Given the description of an element on the screen output the (x, y) to click on. 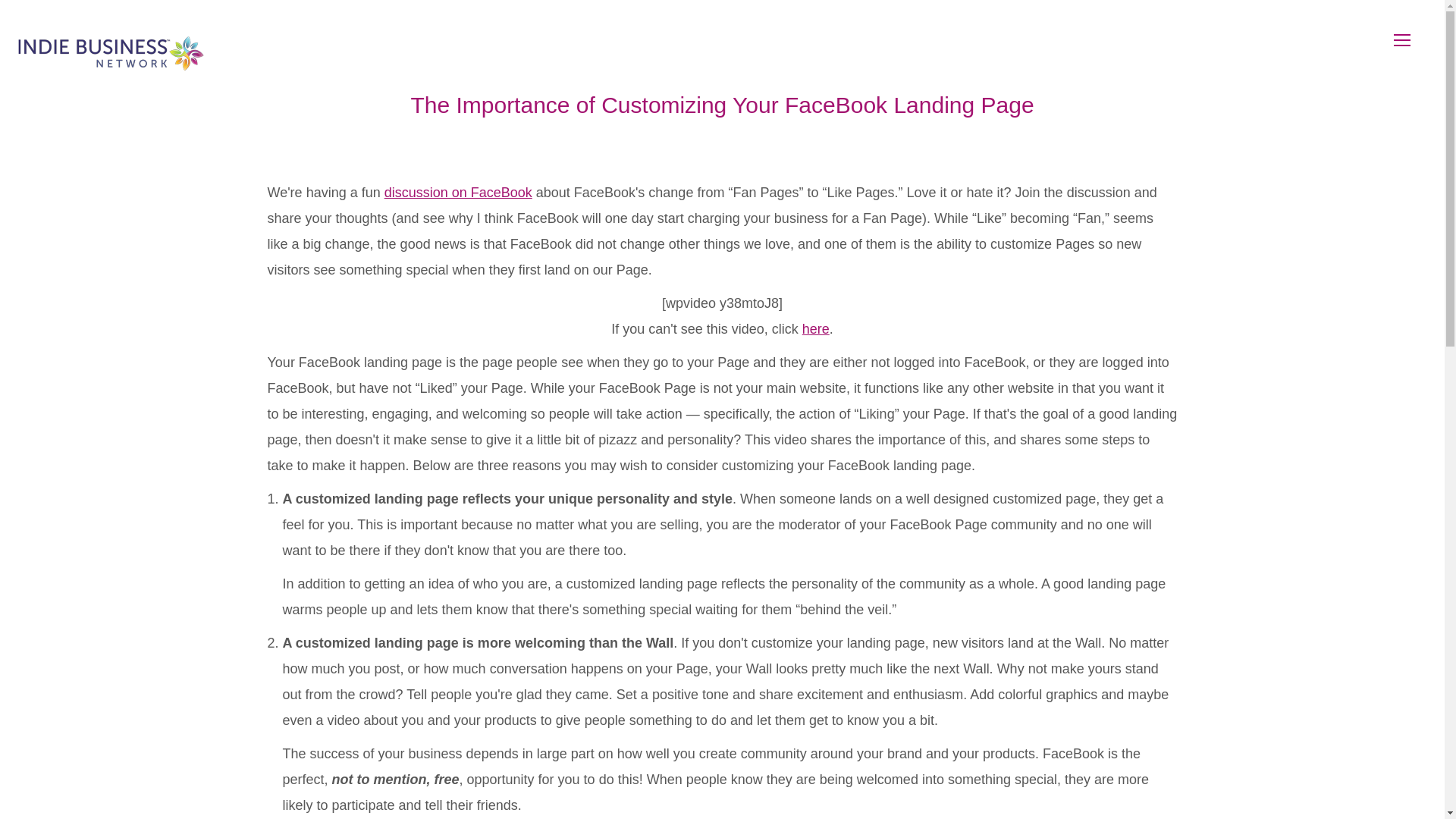
Go! (24, 16)
